Given the description of an element on the screen output the (x, y) to click on. 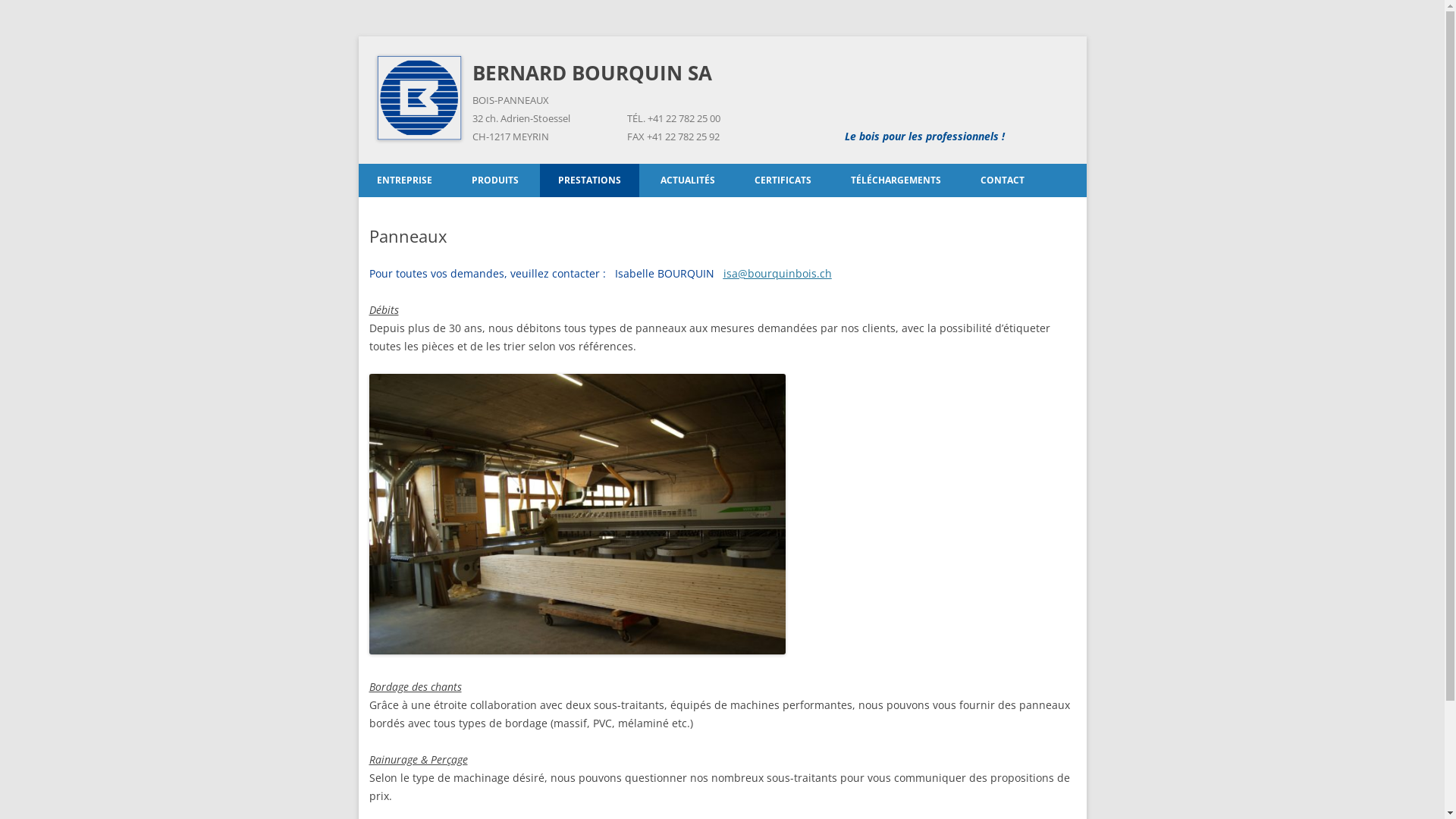
ENTREPRISE Element type: text (403, 180)
CONTACT Element type: text (1001, 180)
BOIS MASSIF Element type: text (615, 212)
PRODUITS Element type: text (494, 180)
isa@bourquinbois.ch Element type: text (777, 273)
CERTIFICATS Element type: text (781, 180)
VENTE INTERNE Element type: text (1037, 212)
PRESTATIONS Element type: text (589, 180)
Aller au contenu Element type: text (721, 163)
